Given the description of an element on the screen output the (x, y) to click on. 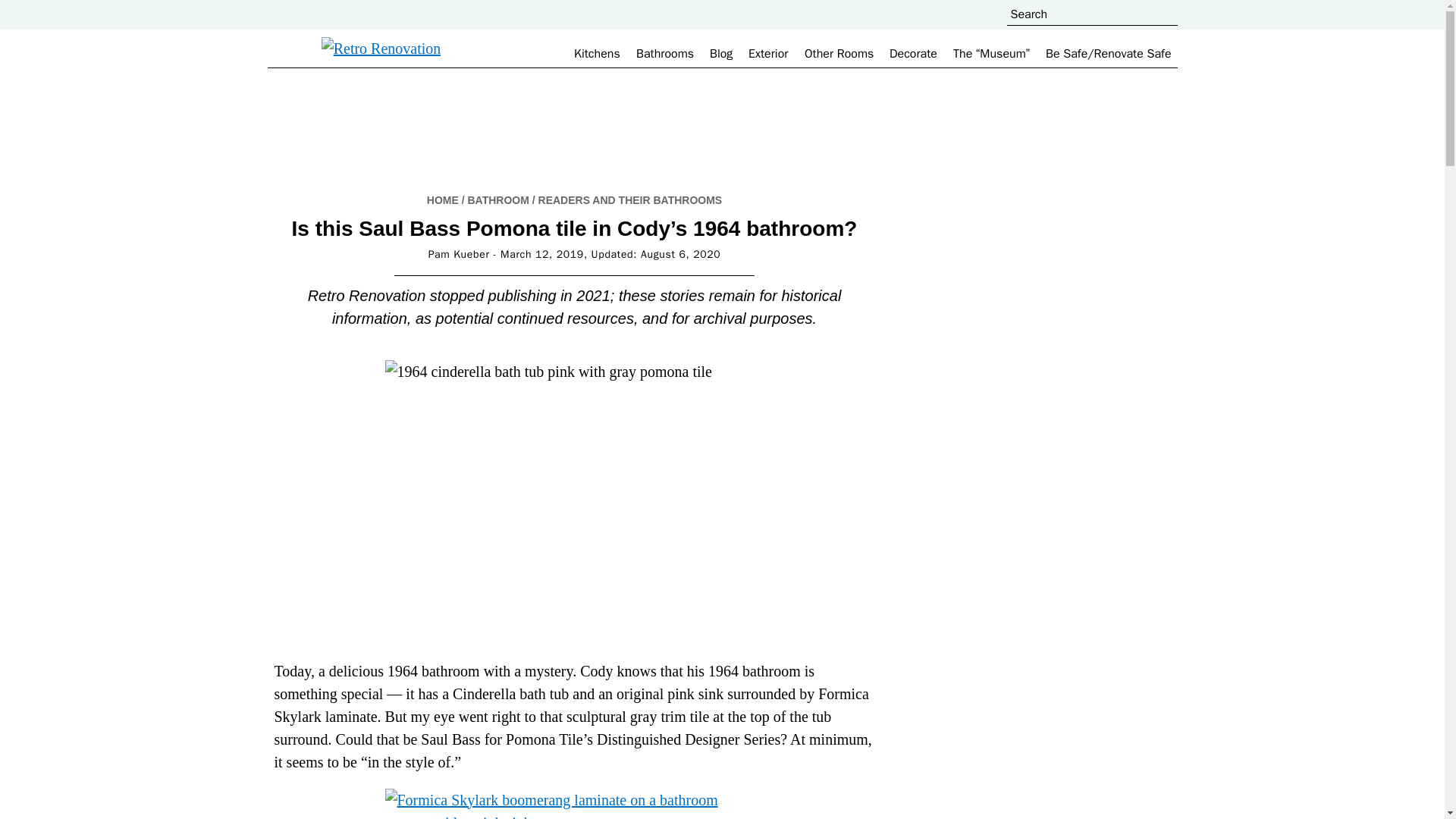
Search (1266, 9)
Exterior (767, 53)
Kitchens (596, 53)
BATHROOM (497, 200)
Blog (720, 53)
Decorate (913, 53)
Search (1266, 9)
HOME (442, 200)
Bathrooms (665, 53)
Decorate (913, 53)
